Given the description of an element on the screen output the (x, y) to click on. 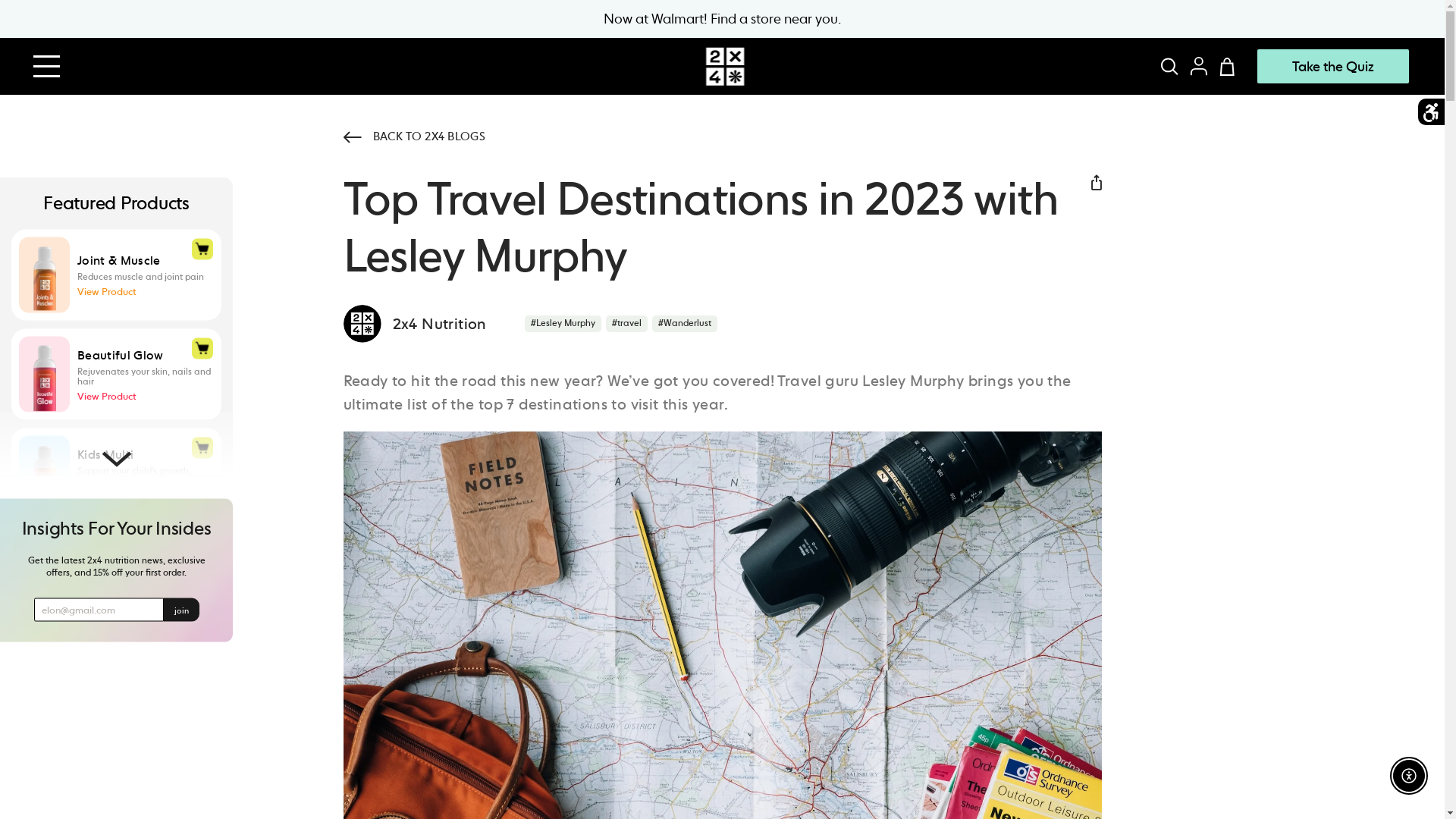
View Product Element type: text (106, 291)
#travel Element type: text (626, 323)
View Product Element type: text (106, 395)
#Lesley Murphy Element type: text (562, 323)
BACK TO 2X4 BLOGS Element type: text (721, 136)
home Element type: hover (724, 66)
Take the Quiz Element type: text (1332, 66)
#Wanderlust Element type: text (684, 323)
Enable Accessibility Element type: text (1408, 775)
join Element type: text (181, 609)
